Given the description of an element on the screen output the (x, y) to click on. 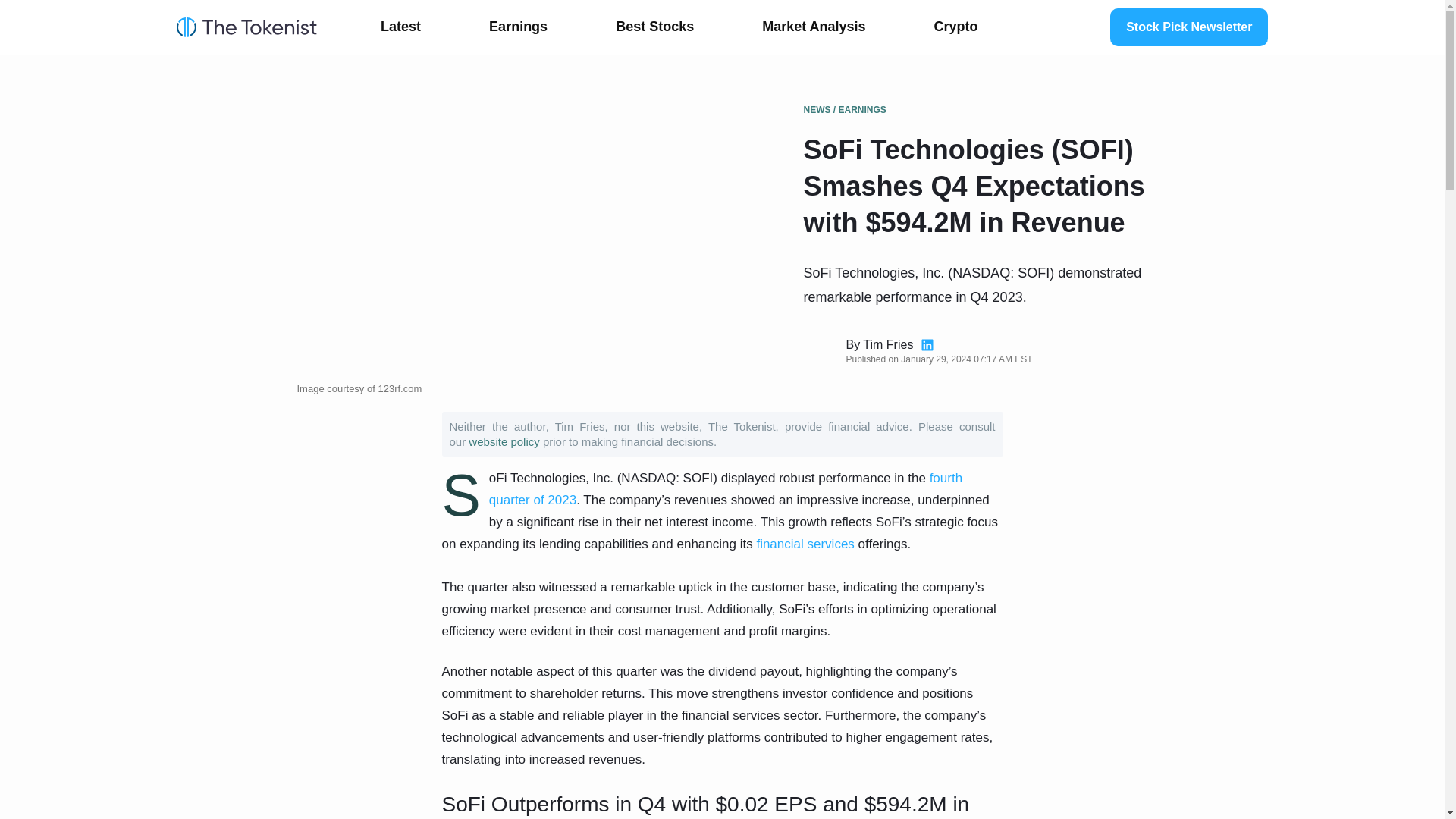
Tim Fries (887, 344)
NEWS (817, 109)
Stock Pick Newsletter (1188, 26)
Best Stocks (654, 27)
EARNINGS (862, 109)
fourth quarter of 2023 (725, 488)
Crypto (955, 27)
Market Analysis (813, 27)
financial services (804, 544)
Earnings (517, 27)
